Given the description of an element on the screen output the (x, y) to click on. 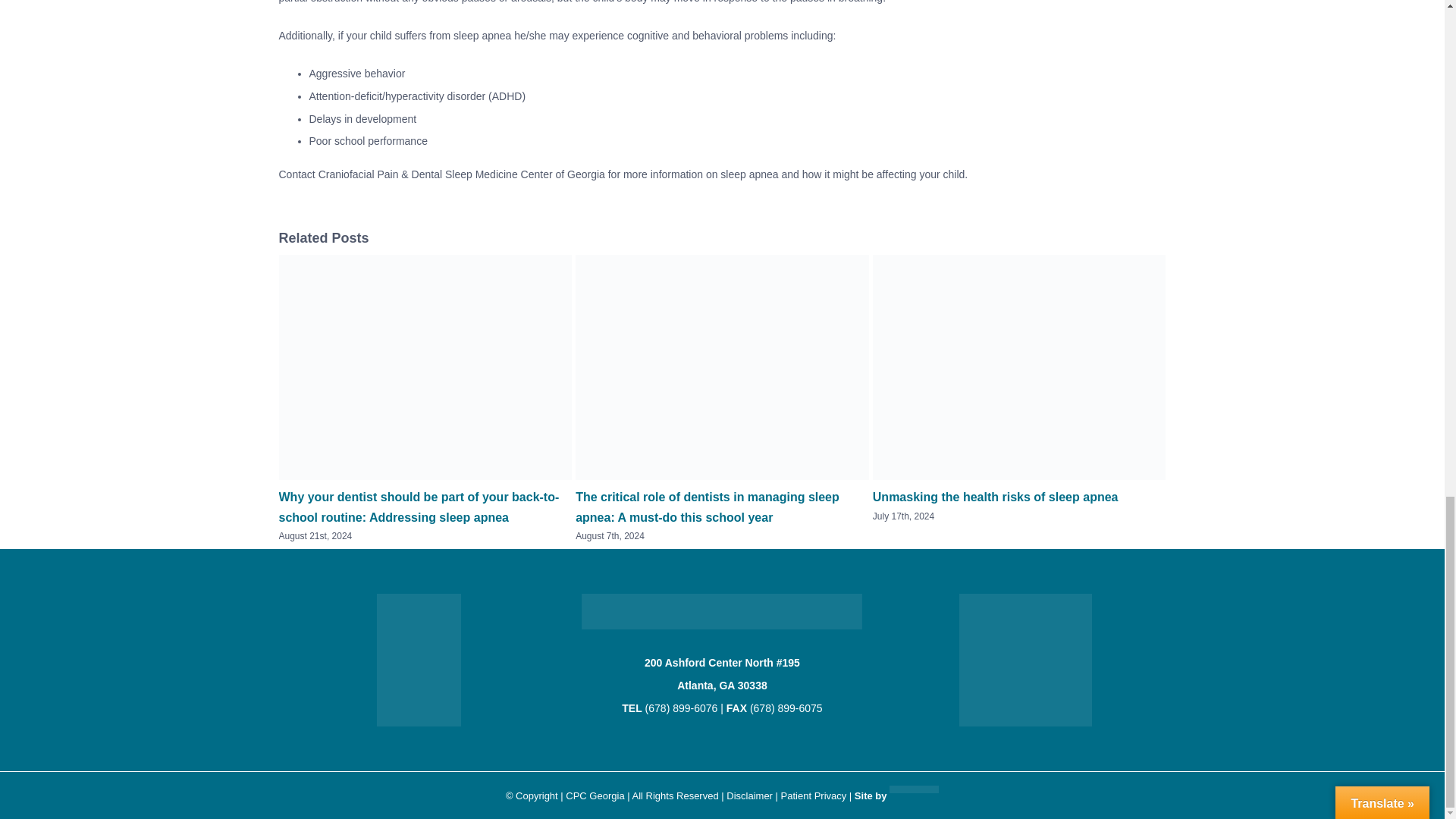
Unmasking the health risks of sleep apnea (995, 496)
